Given the description of an element on the screen output the (x, y) to click on. 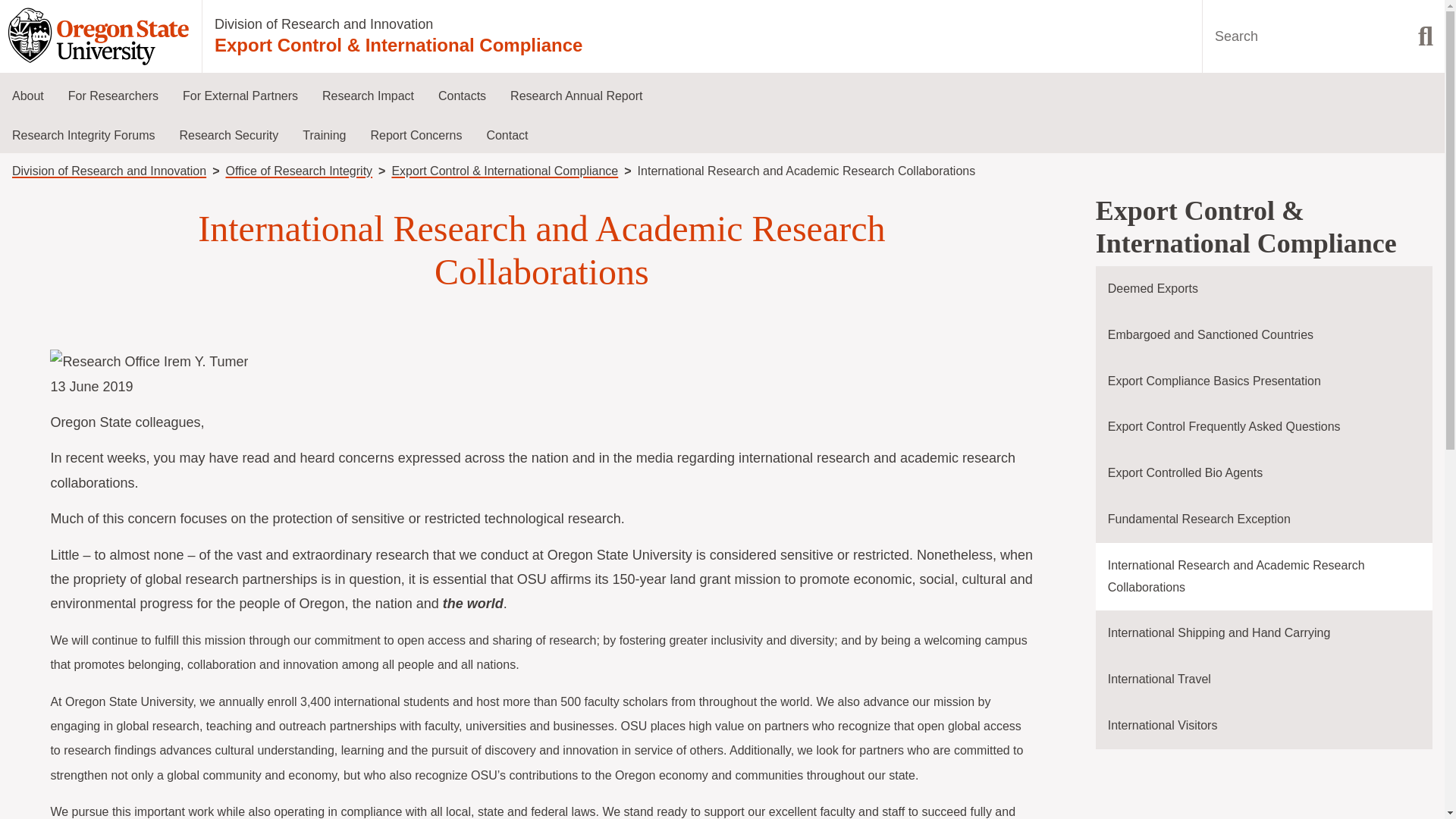
International Visitors (1264, 725)
About (28, 95)
Embargoed and Sanctioned Countries (1264, 335)
Division of Research and Innovation (108, 170)
Research Integrity Forums (83, 135)
Contacts (461, 95)
Division of Research and Innovation (323, 23)
Export Control Frequently Asked Questions (1264, 427)
Research Impact (368, 95)
For External Partners (240, 95)
